Given the description of an element on the screen output the (x, y) to click on. 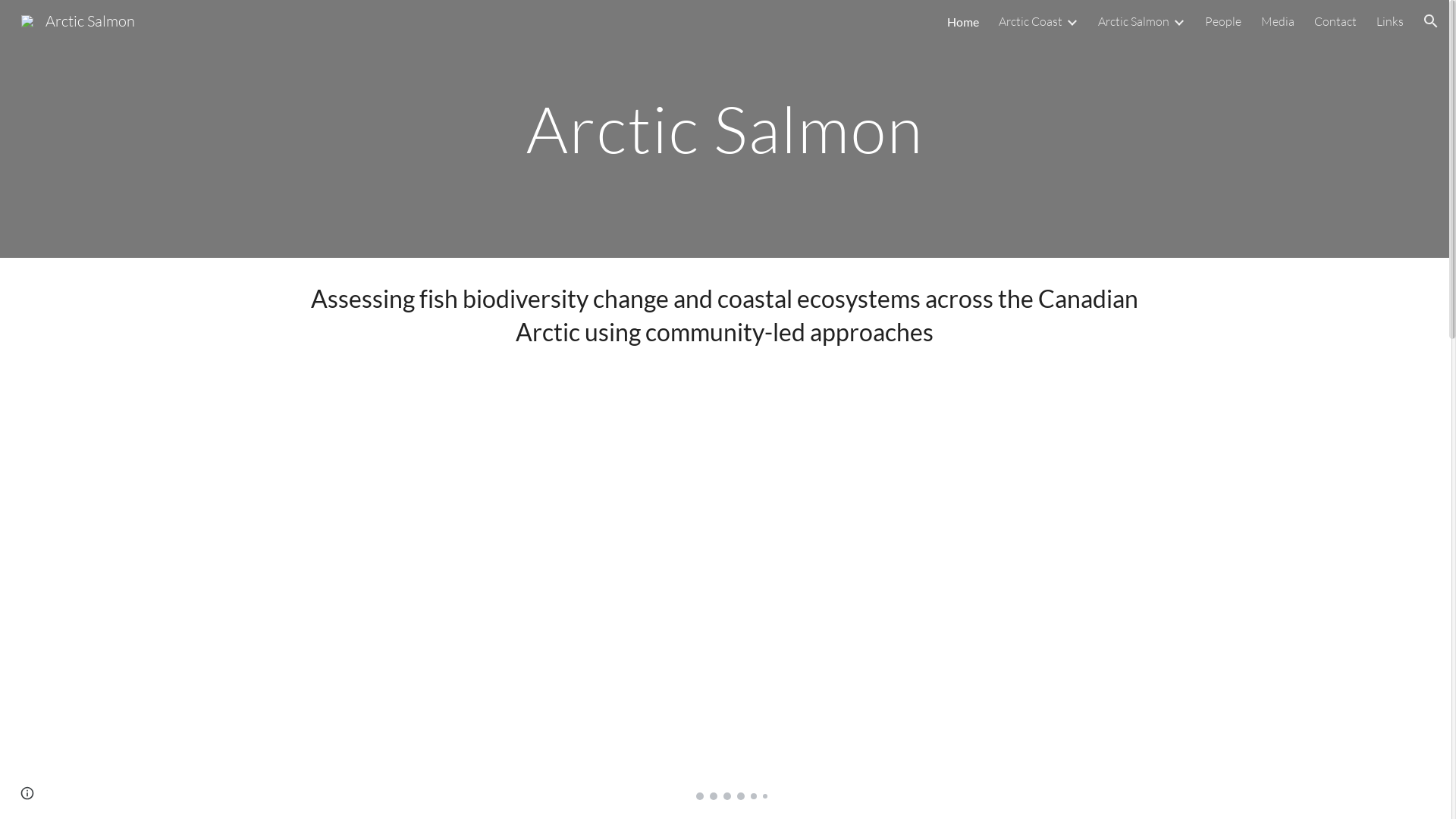
People Element type: text (1222, 20)
Media Element type: text (1277, 20)
Expand/Collapse Element type: hover (1178, 20)
Contact Element type: text (1335, 20)
Arctic Salmon Element type: text (78, 18)
Arctic Coast Element type: text (1030, 20)
Links Element type: text (1389, 20)
Expand/Collapse Element type: hover (1071, 20)
Arctic Salmon Element type: text (1133, 20)
Home Element type: text (963, 20)
